Given the description of an element on the screen output the (x, y) to click on. 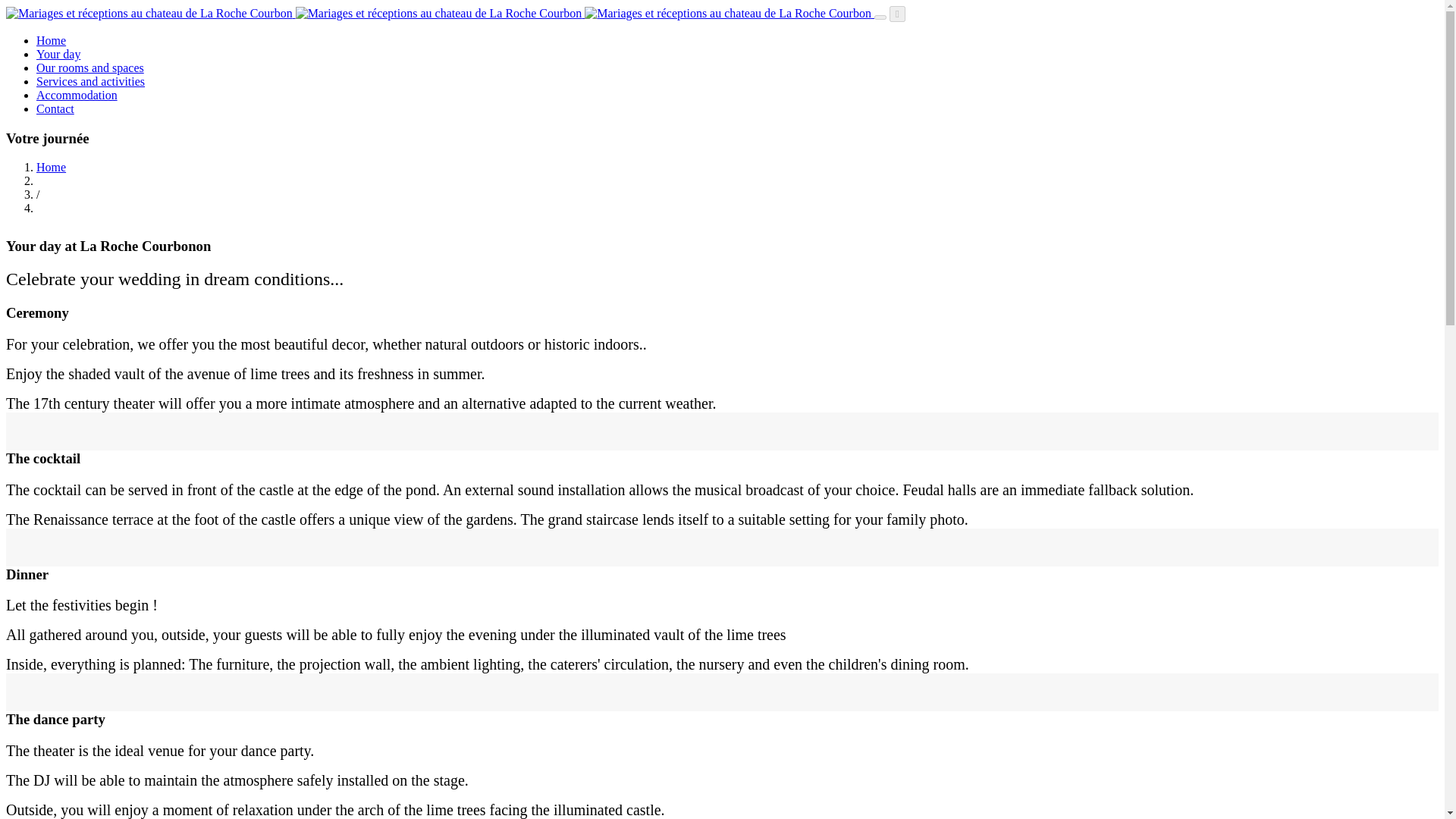
Our rooms and spaces (90, 67)
Your day (58, 53)
Home (50, 166)
Services and activities (90, 81)
Accommodation (76, 94)
Home (50, 40)
Contact (55, 108)
